Given the description of an element on the screen output the (x, y) to click on. 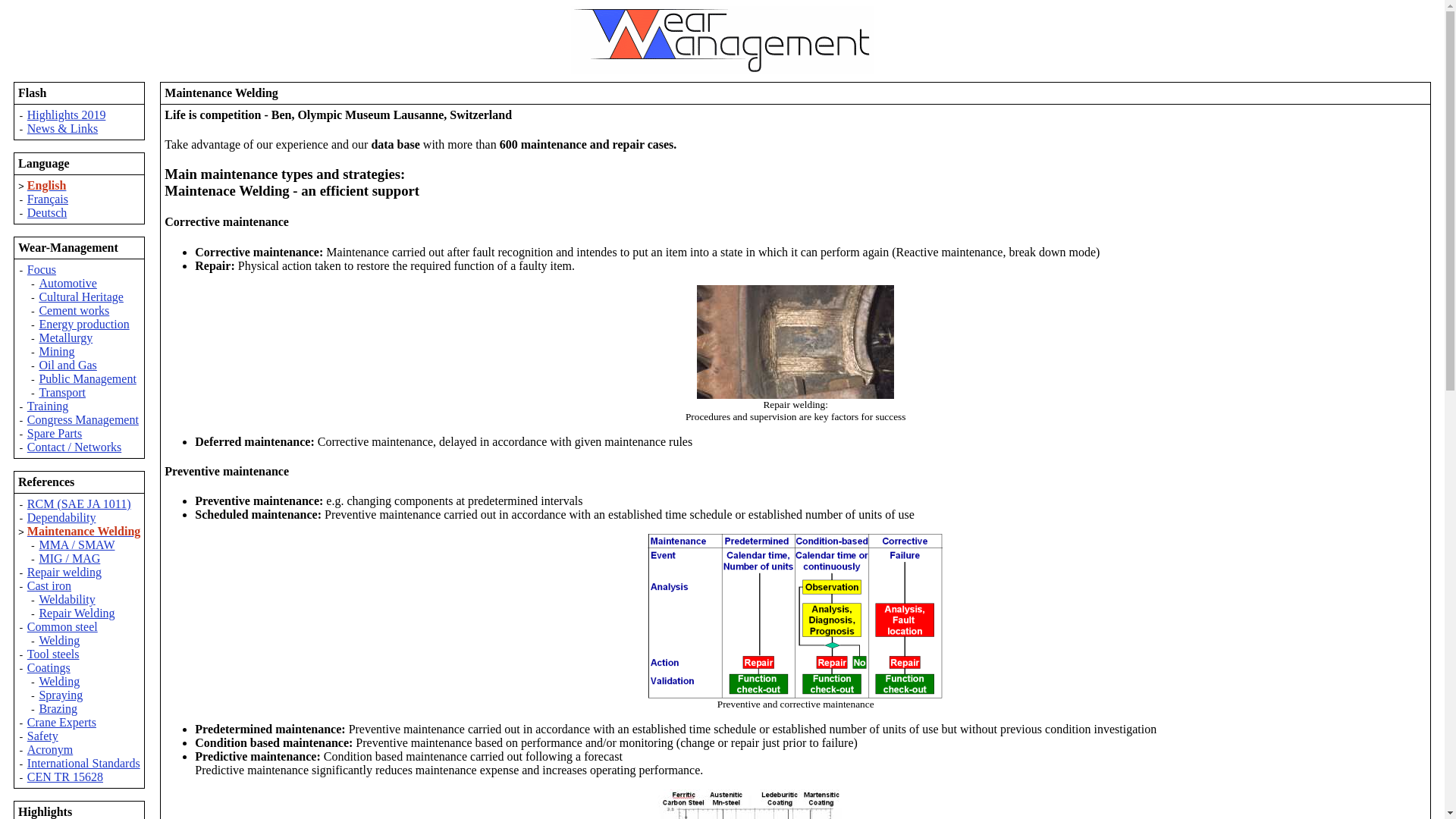
Focus (41, 269)
Acronym (49, 748)
Safety (42, 735)
Cultural Heritage (81, 296)
Congress Management (82, 419)
Deutsch (46, 212)
Metallurgy (66, 337)
Oil and Gas (67, 364)
Maintenance Welding (84, 530)
Cement works (74, 309)
International Standards (83, 762)
Mining (56, 350)
Highlights 2019 (66, 114)
Spraying (60, 694)
Welding (59, 680)
